Given the description of an element on the screen output the (x, y) to click on. 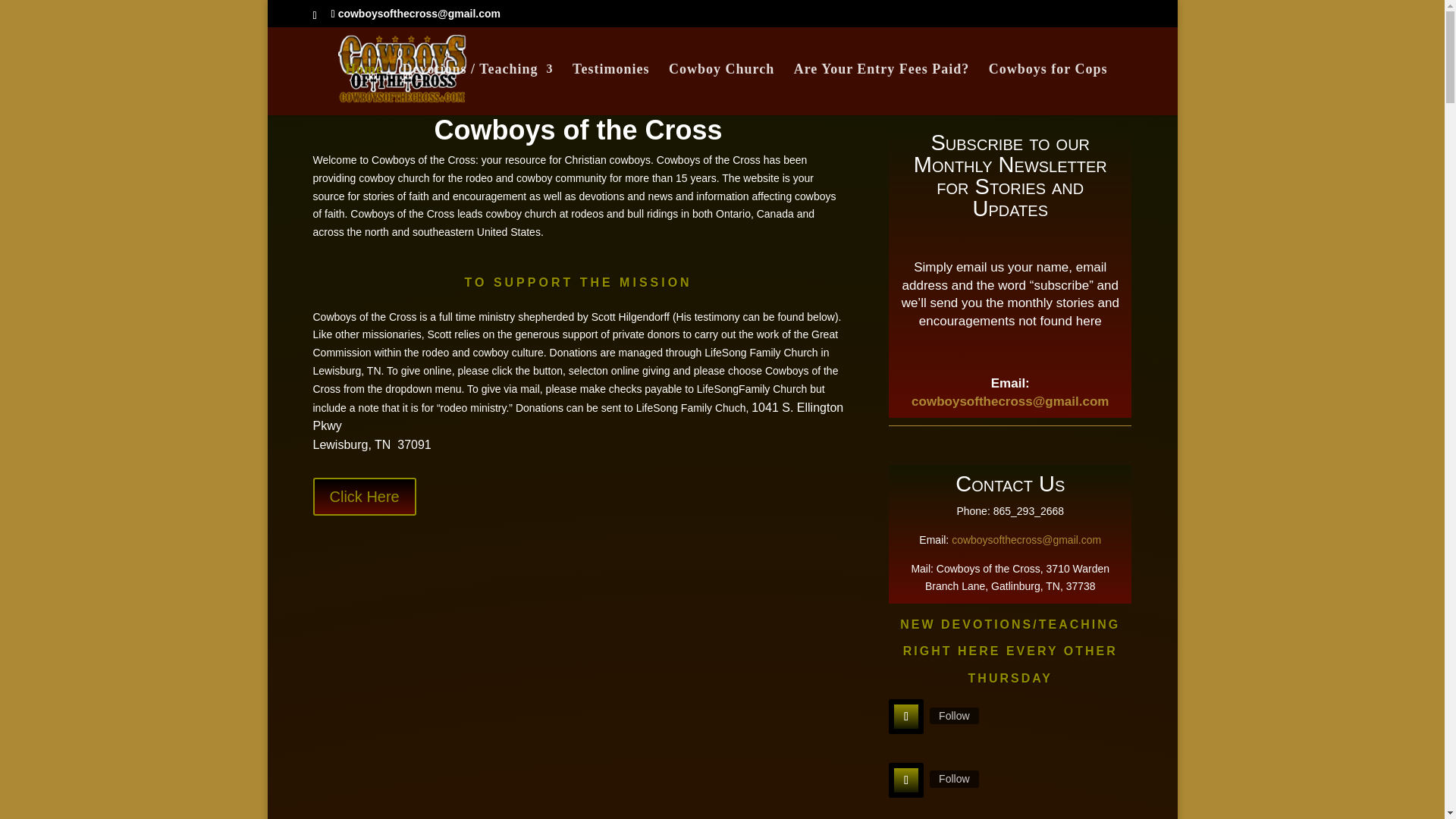
Cowboy Church (721, 89)
Are Your Entry Fees Paid? (881, 89)
Testimonies (610, 89)
Follow (954, 715)
Follow on Facebook (905, 716)
Follow on Instagram (905, 779)
Follow (578, 426)
Facebook (954, 778)
Click Here (954, 715)
